Given the description of an element on the screen output the (x, y) to click on. 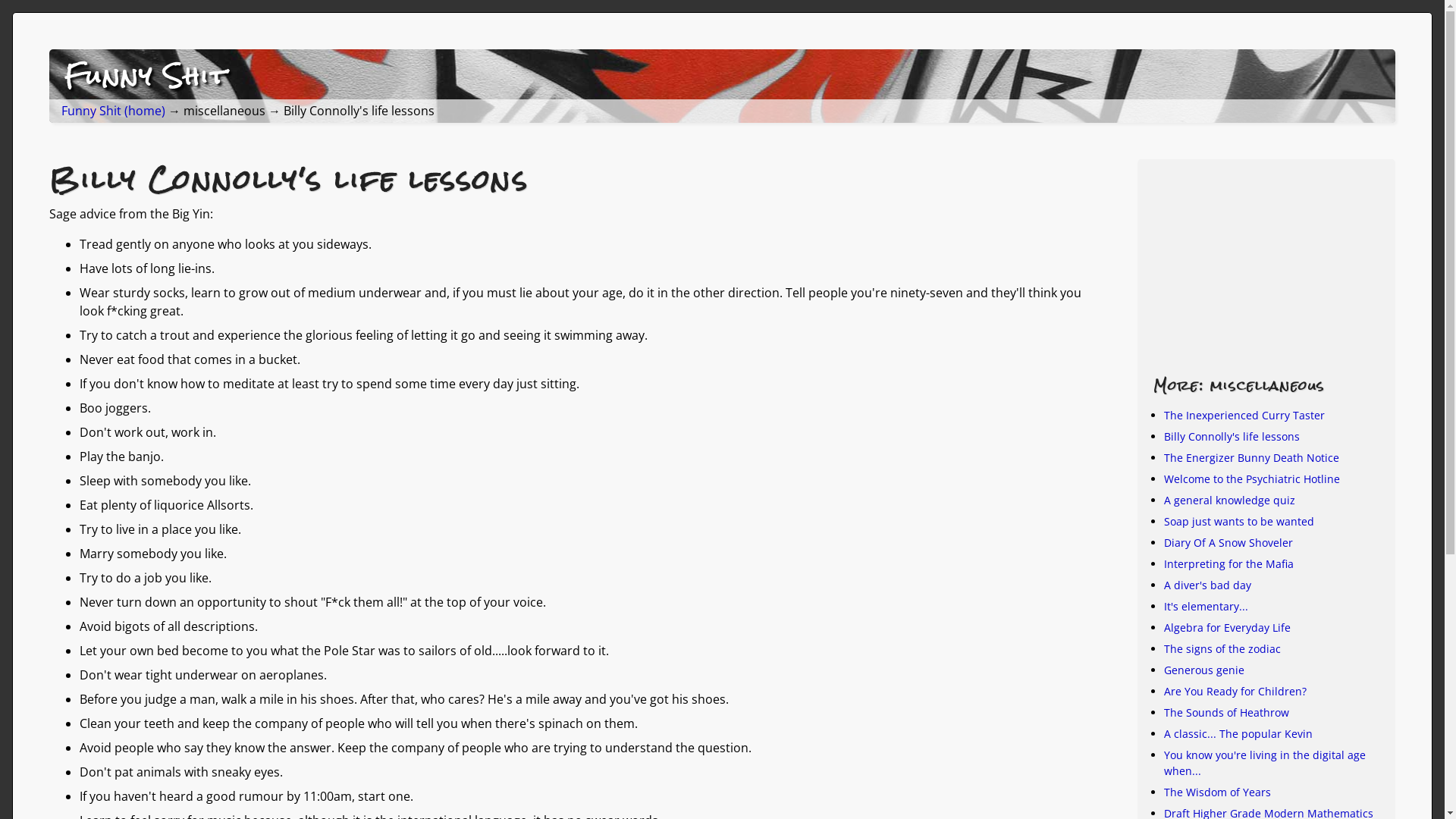
Interpreting for the Mafia Element type: text (1228, 563)
A diver's bad day Element type: text (1207, 584)
Funny Shit (home) Element type: text (113, 110)
The Inexperienced Curry Taster Element type: text (1244, 414)
Diary Of A Snow Shoveler Element type: text (1228, 542)
A general knowledge quiz Element type: text (1229, 499)
The signs of the zodiac Element type: text (1222, 648)
Funny Shit Element type: text (145, 75)
Algebra for Everyday Life Element type: text (1227, 627)
The Sounds of Heathrow Element type: text (1226, 712)
Are You Ready for Children? Element type: text (1235, 691)
A classic... The popular Kevin Element type: text (1238, 733)
Advertisement Element type: hover (1266, 264)
Generous genie Element type: text (1204, 669)
It's elementary... Element type: text (1206, 606)
Soap just wants to be wanted Element type: text (1239, 521)
Welcome to the Psychiatric Hotline Element type: text (1251, 478)
The Energizer Bunny Death Notice Element type: text (1251, 457)
You know you're living in the digital age when... Element type: text (1264, 762)
Billy Connolly's life lessons Element type: text (1231, 436)
The Wisdom of Years Element type: text (1217, 791)
